Given the description of an element on the screen output the (x, y) to click on. 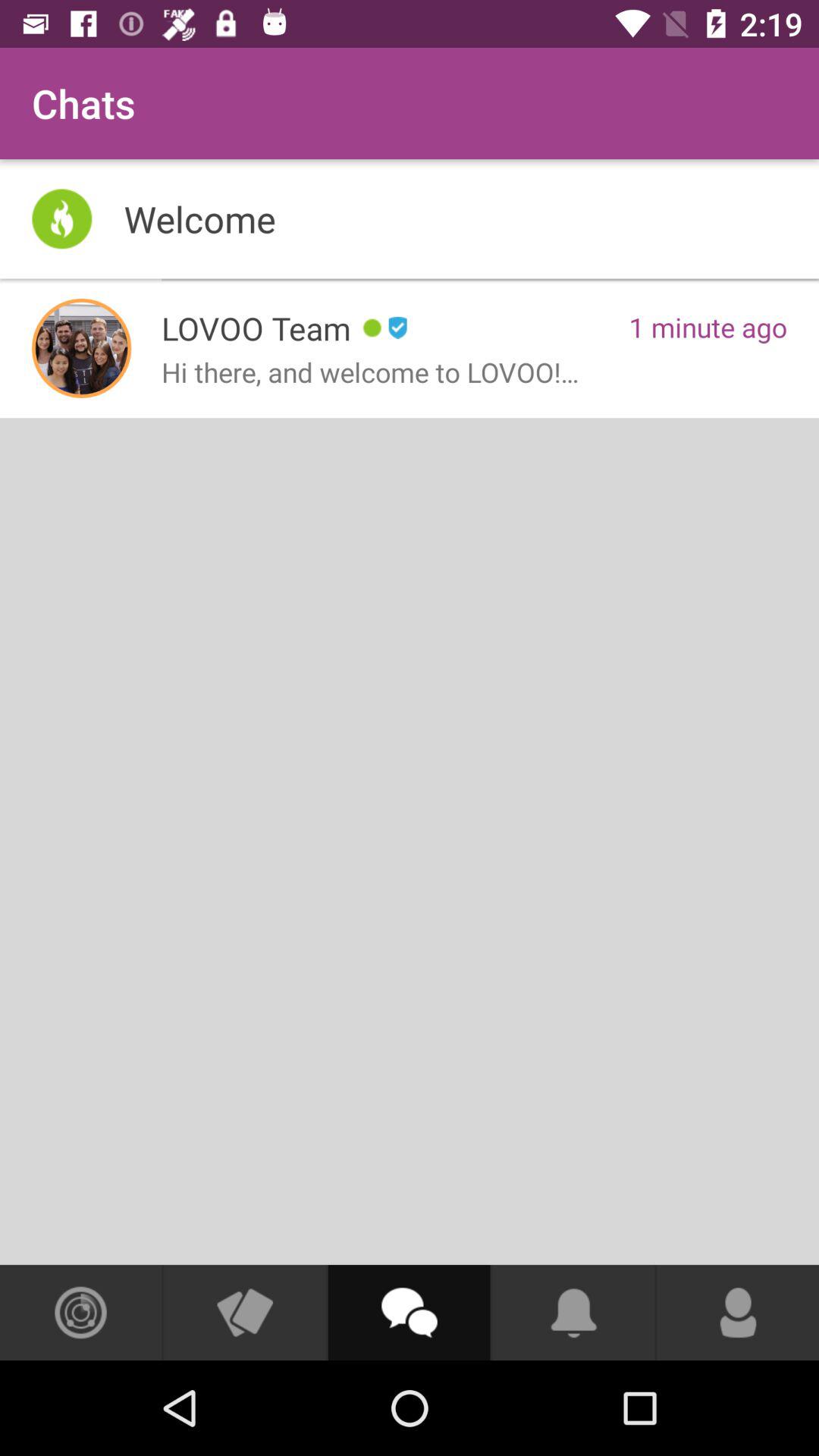
choose item to the left of lovoo team app (81, 348)
